Given the description of an element on the screen output the (x, y) to click on. 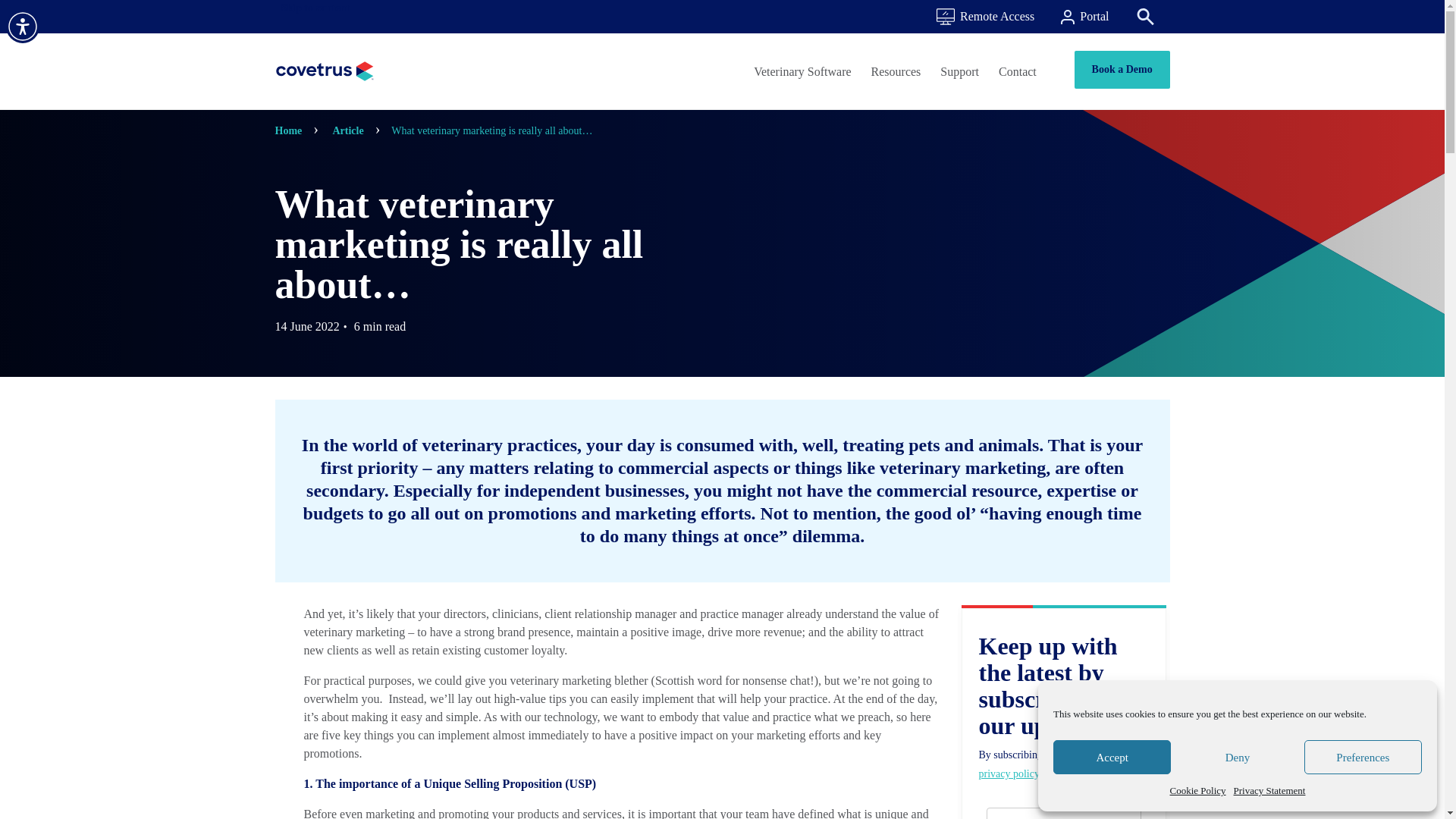
Deny (1236, 756)
Accessibility Menu (22, 26)
Accept (1111, 756)
Preferences (1363, 756)
Remote Access (985, 16)
Cookie Policy (1197, 791)
Portal (1083, 16)
Privacy Statement (1269, 791)
Skip to content (315, 10)
